Given the description of an element on the screen output the (x, y) to click on. 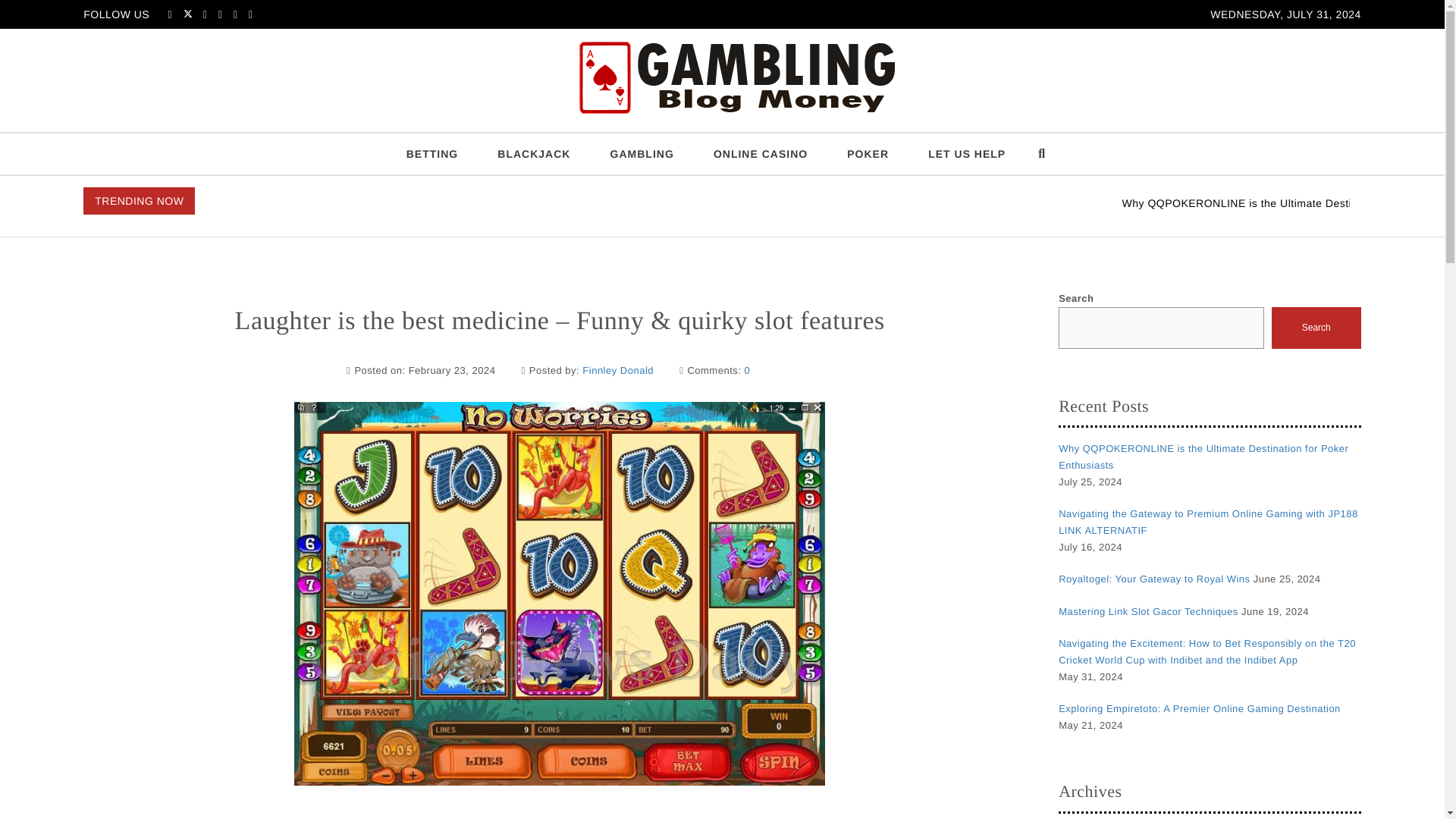
POKER (867, 153)
BLACKJACK (533, 153)
LET US HELP (966, 153)
GAMBLING (642, 153)
BETTING (432, 153)
ONLINE CASINO (760, 153)
